Given the description of an element on the screen output the (x, y) to click on. 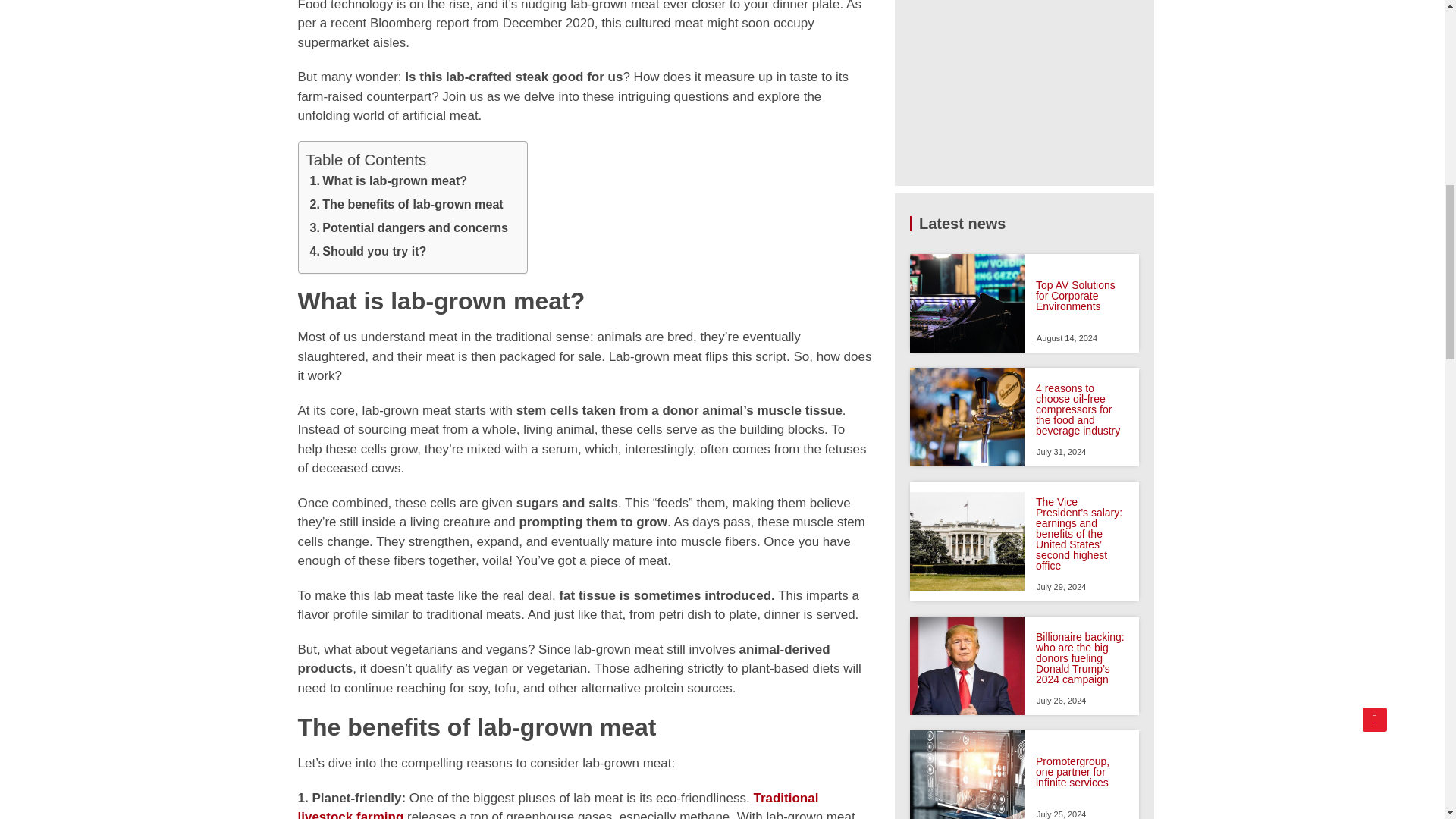
What is lab-grown meat? (388, 182)
Should you try it? (367, 253)
What is lab-grown meat? (388, 182)
Potential dangers and concerns (408, 229)
The benefits of lab-grown meat (405, 206)
Potential dangers and concerns (408, 229)
Traditional livestock farming (557, 805)
The benefits of lab-grown meat (405, 206)
Should you try it? (367, 253)
